Given the description of an element on the screen output the (x, y) to click on. 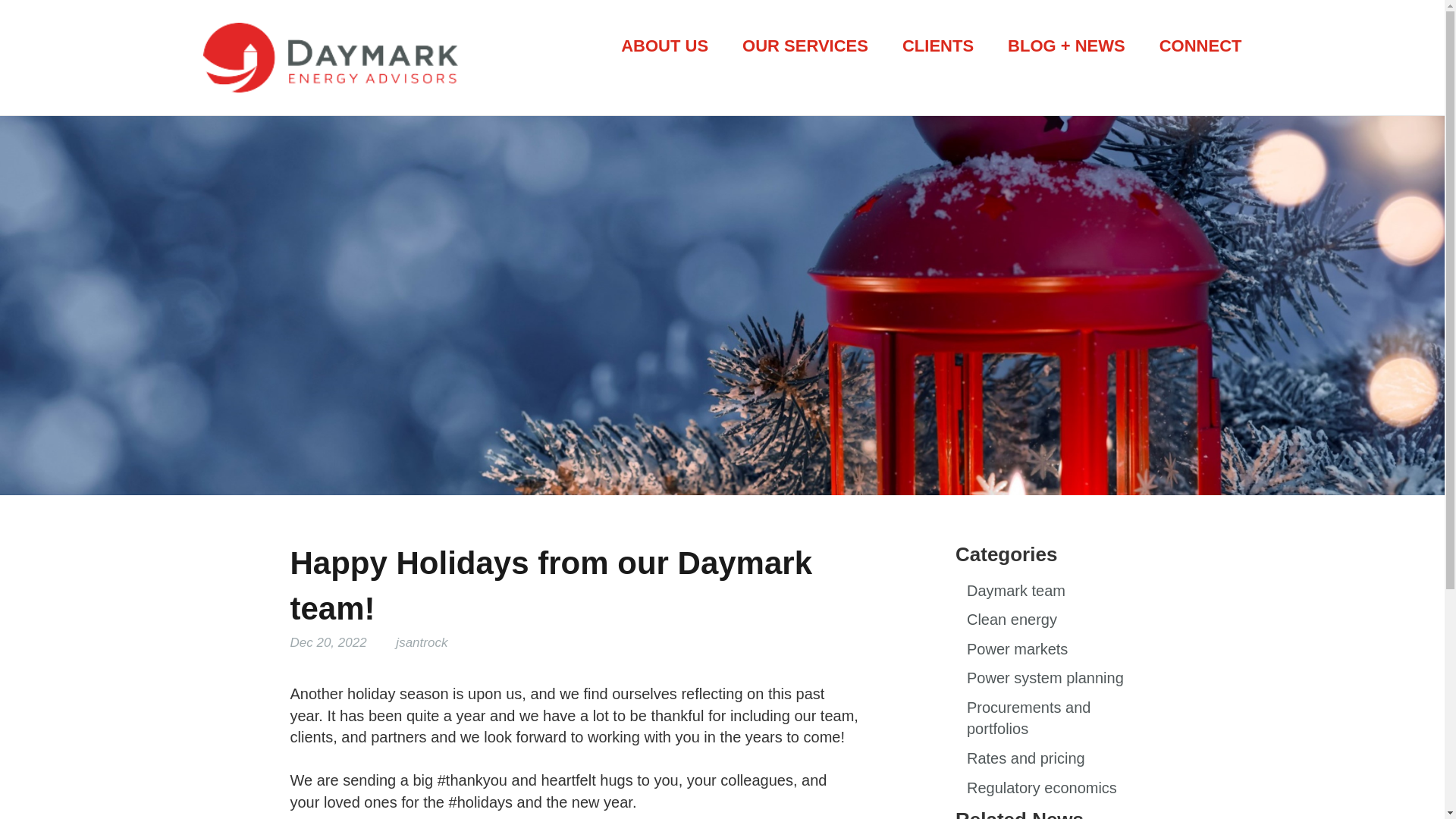
Rates and pricing (1025, 758)
ABOUT US (664, 45)
OUR SERVICES (804, 45)
Power system planning (1045, 677)
Regulatory economics (1041, 787)
Procurements and portfolios (1028, 718)
Clean energy (1011, 619)
CONNECT (1199, 45)
CLIENTS (938, 45)
Power markets (1016, 648)
Daymark team (1015, 590)
